Given the description of an element on the screen output the (x, y) to click on. 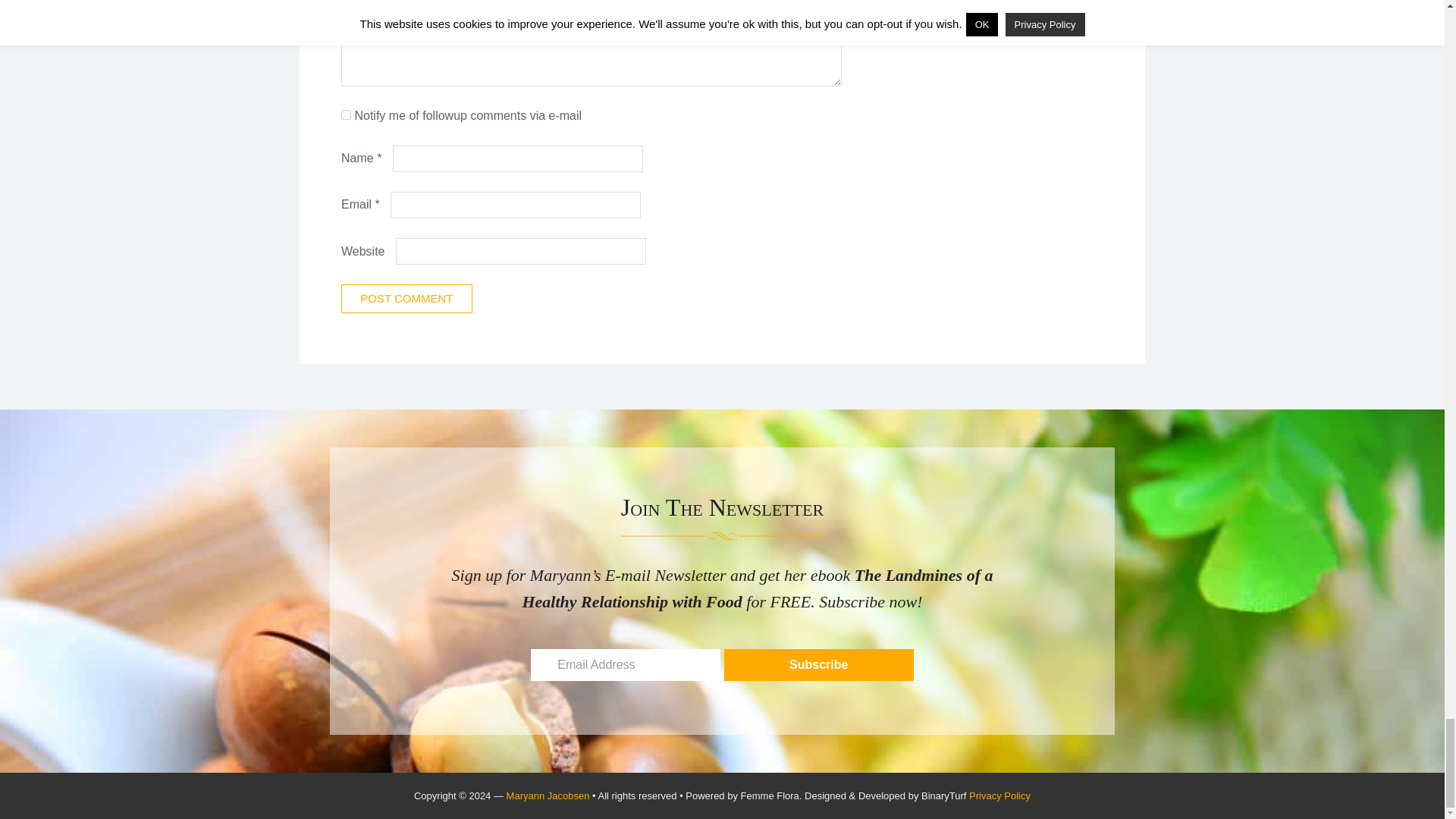
Maryann Jacobsen (547, 795)
Privacy Policy (999, 795)
subscribe (345, 114)
Post Comment (405, 298)
